Given the description of an element on the screen output the (x, y) to click on. 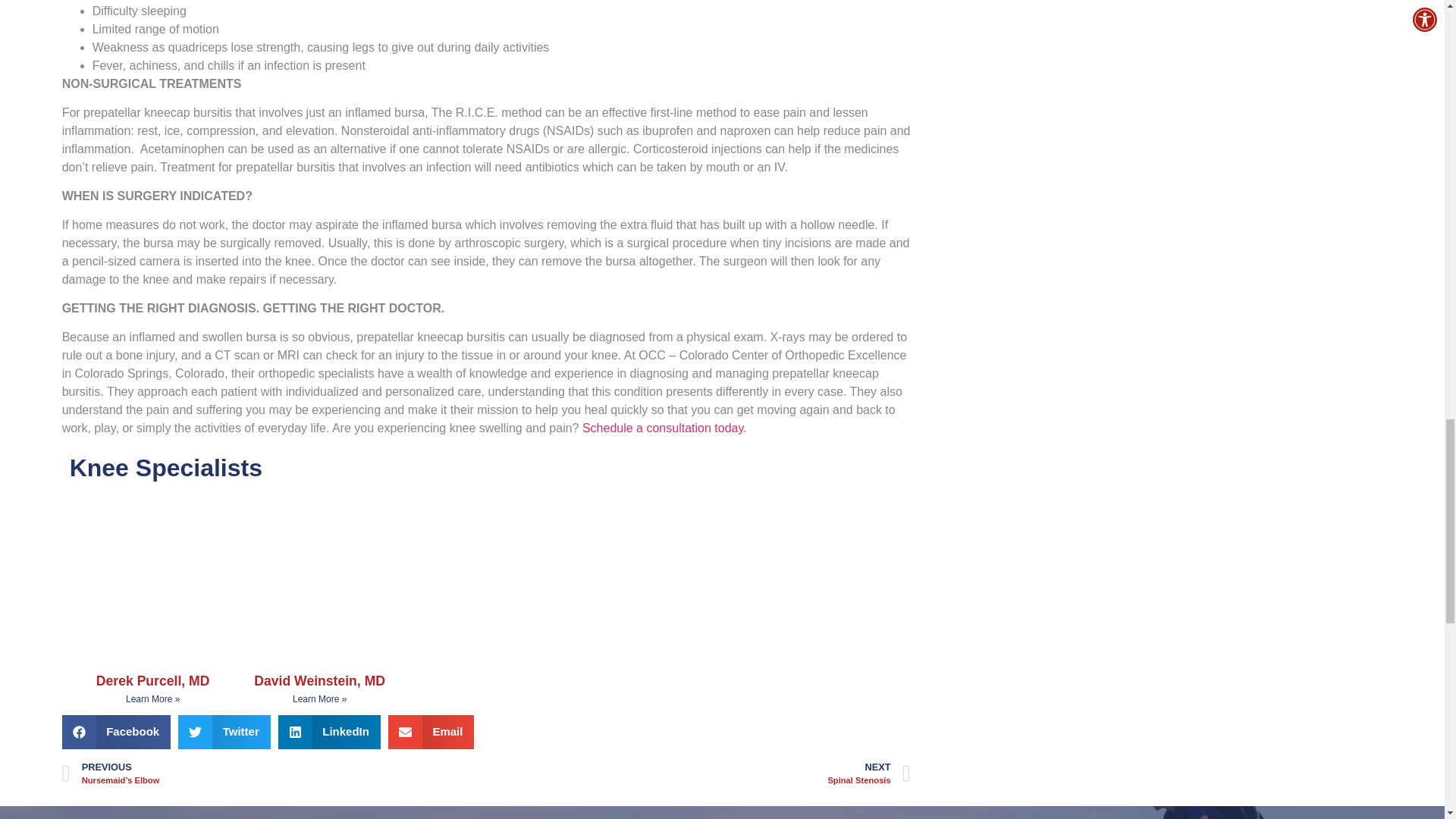
Derek Purcell, MD (152, 680)
Schedule a consultation today. (664, 427)
David Weinstein, MD (319, 680)
